Given the description of an element on the screen output the (x, y) to click on. 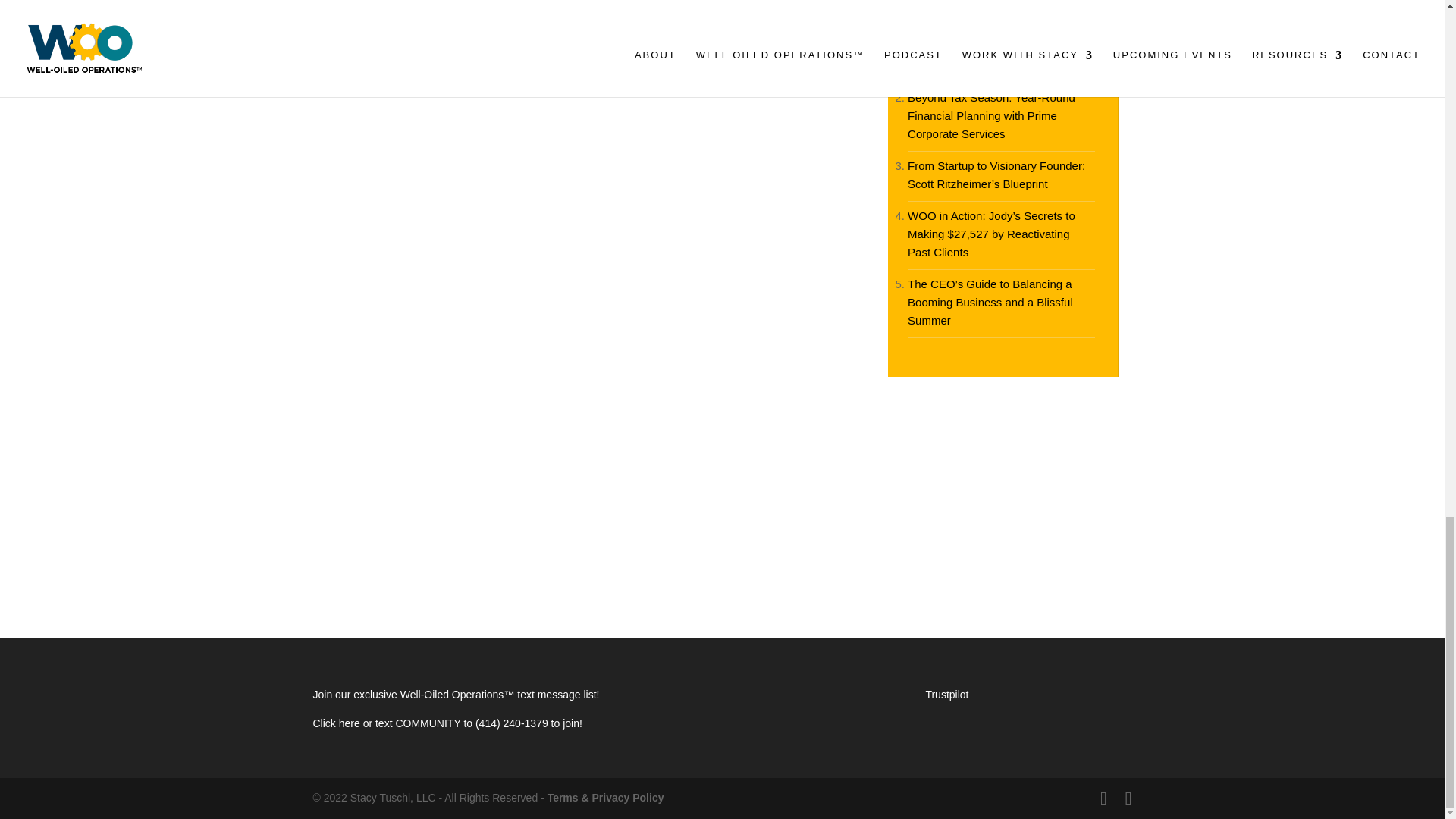
Click here (337, 723)
Trustpilot (946, 694)
How Entrepreneurs Can Buy Back Their Time with Dan Martell (993, 56)
